Given the description of an element on the screen output the (x, y) to click on. 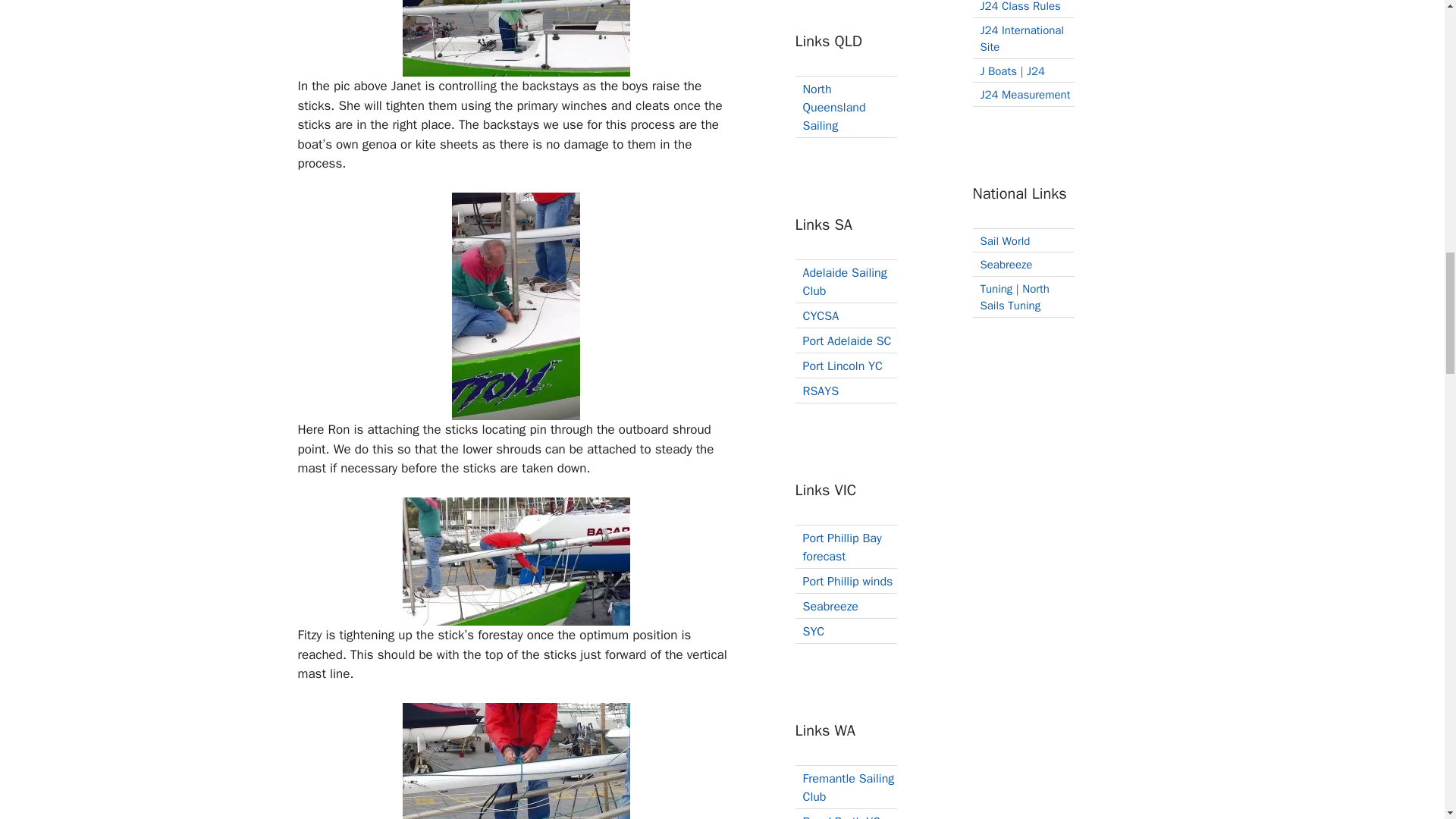
North Queensland Sailing (833, 107)
RSAYS (820, 391)
Adelaide Sailing Club (844, 281)
Port Lincoln YC (842, 365)
Port Adelaide SC (846, 340)
CYCSA (820, 314)
